Given the description of an element on the screen output the (x, y) to click on. 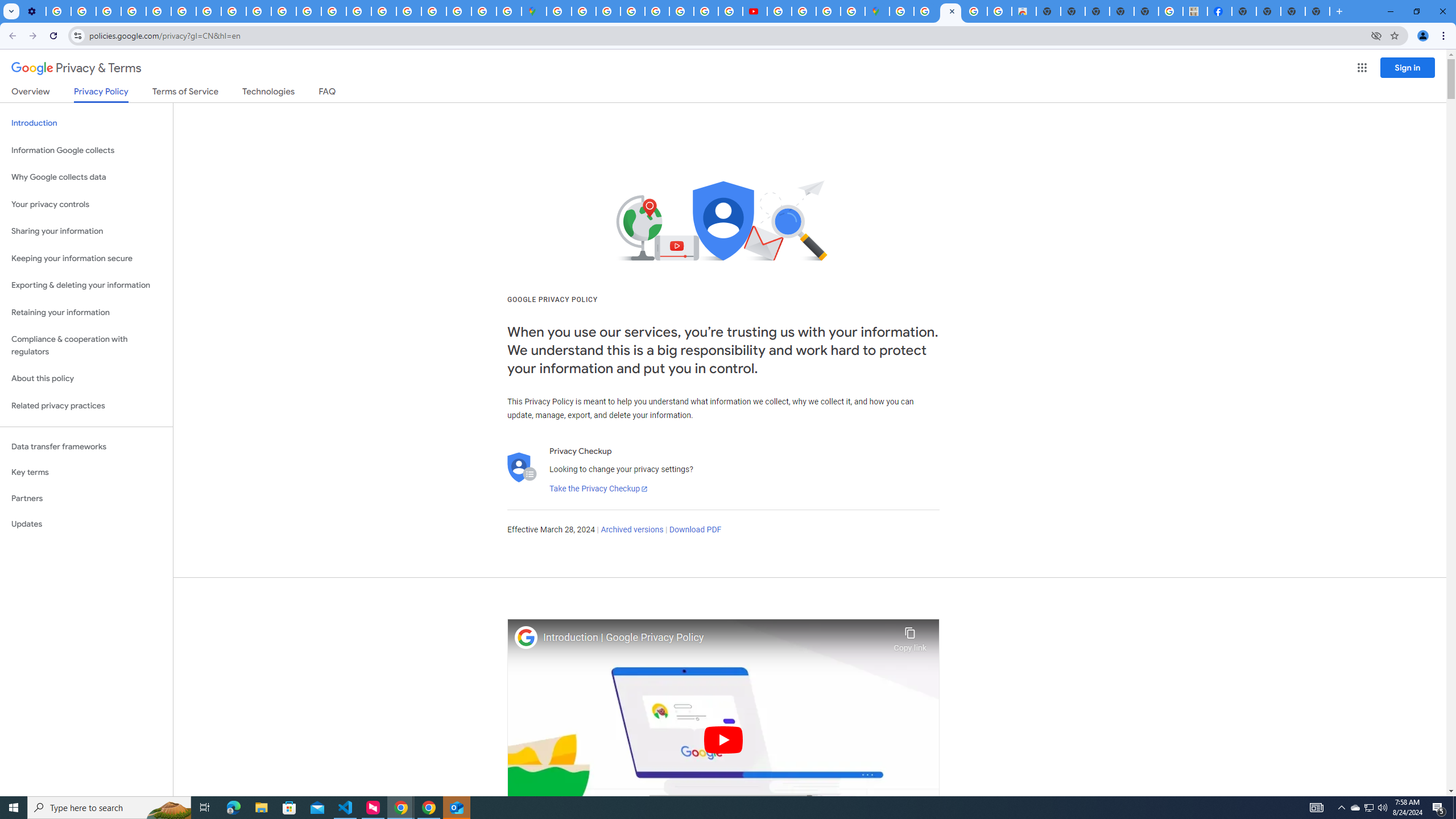
MILEY CYRUS. (1194, 11)
Google Maps (533, 11)
YouTube (182, 11)
Privacy Checkup (258, 11)
Chrome Web Store - Shopping (1023, 11)
